Given the description of an element on the screen output the (x, y) to click on. 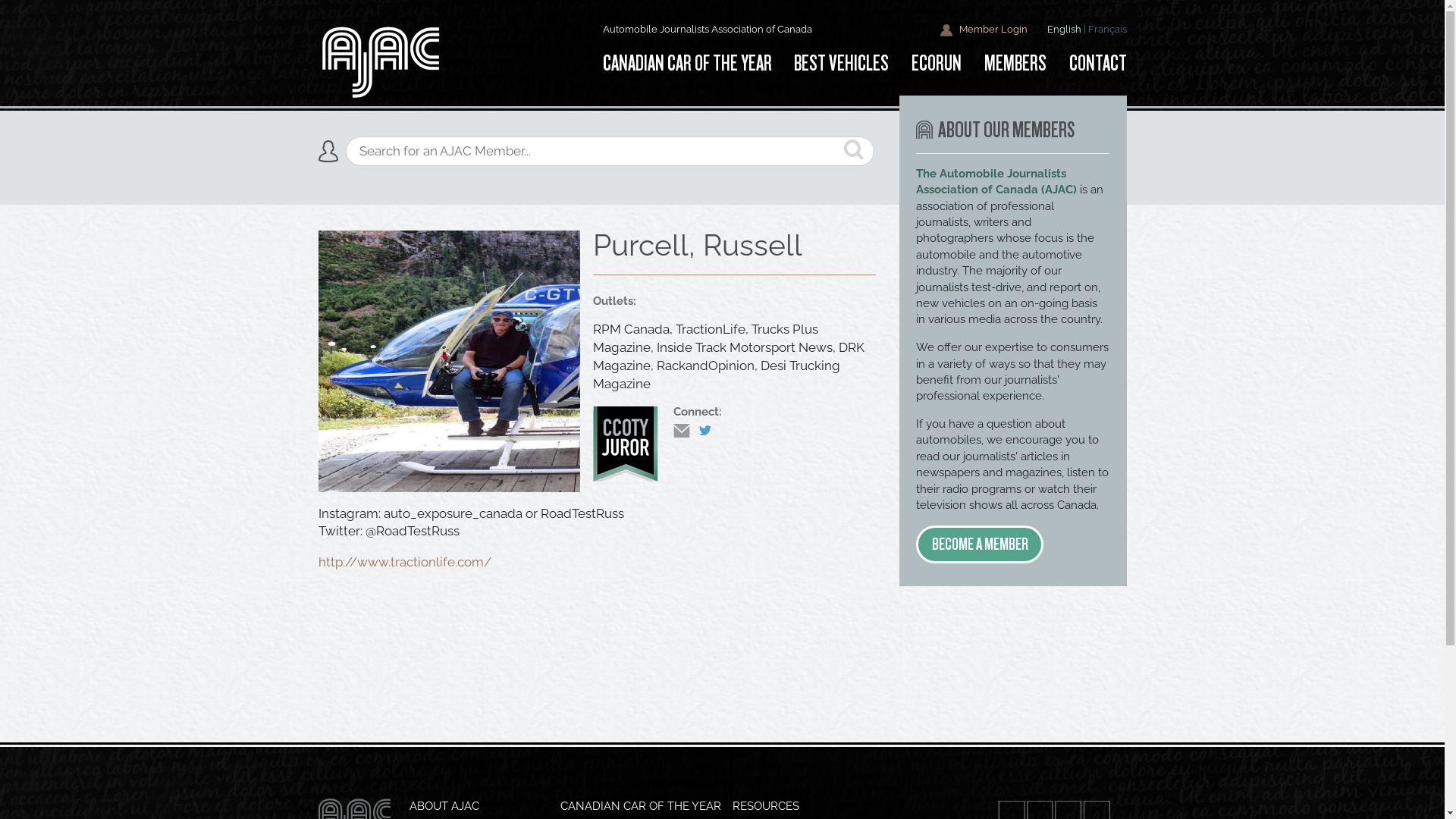
English Element type: text (1063, 28)
MEMBERS Element type: text (1014, 63)
http://www.tractionlife.com/ Element type: text (404, 561)
CANADIAN CAR OF THE YEAR Element type: text (692, 63)
CONTACT Element type: text (1091, 63)
Member Login Element type: text (983, 29)
BEST VEHICLES Element type: text (841, 63)
BECOME A MEMBER Element type: text (979, 544)
ECORUN Element type: text (936, 63)
